Given the description of an element on the screen output the (x, y) to click on. 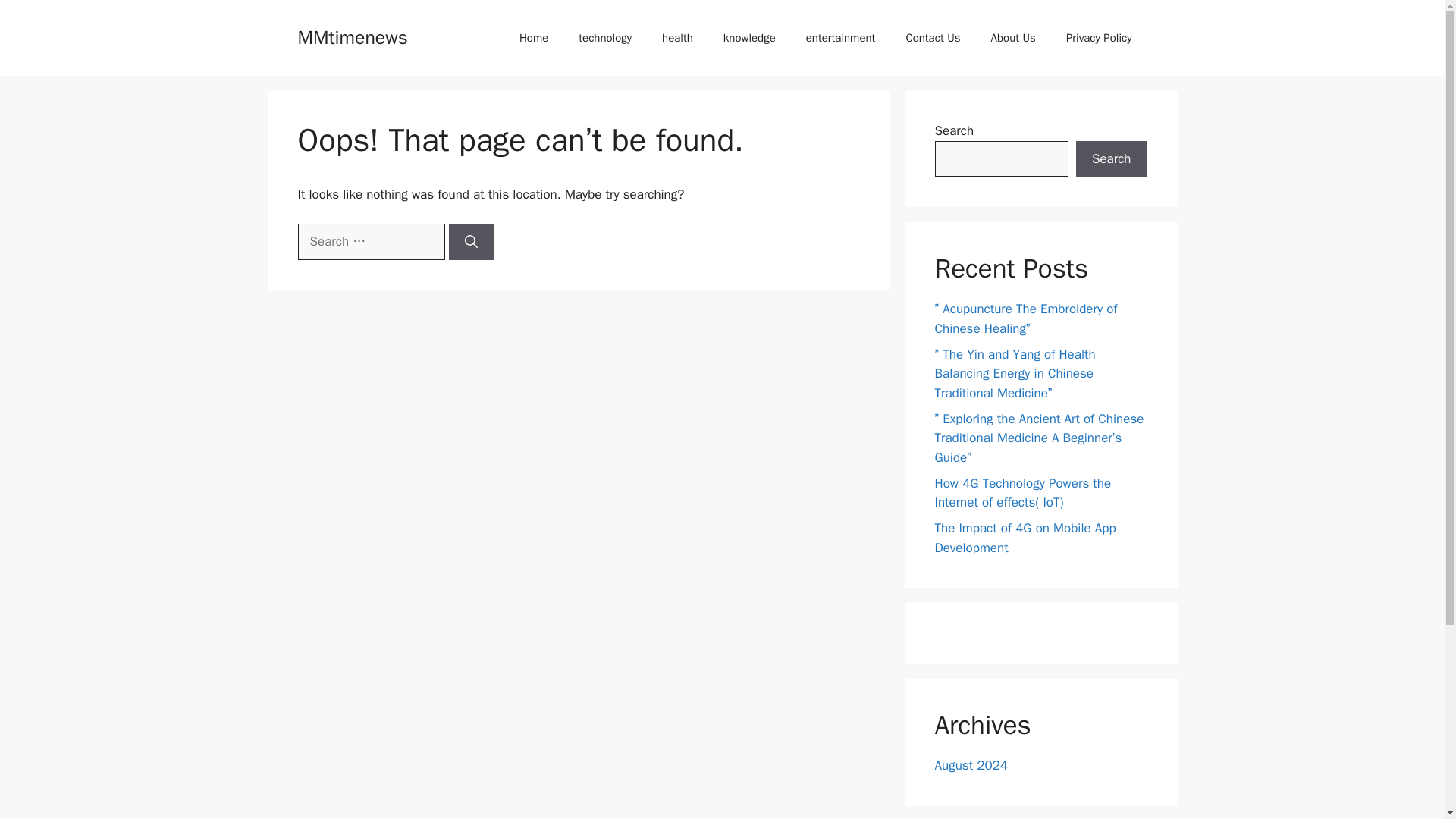
Search for: (370, 241)
health (676, 37)
Search (1111, 158)
About Us (1013, 37)
Privacy Policy (1099, 37)
MMtimenews (352, 37)
technology (604, 37)
entertainment (840, 37)
knowledge (748, 37)
Contact Us (932, 37)
